Given the description of an element on the screen output the (x, y) to click on. 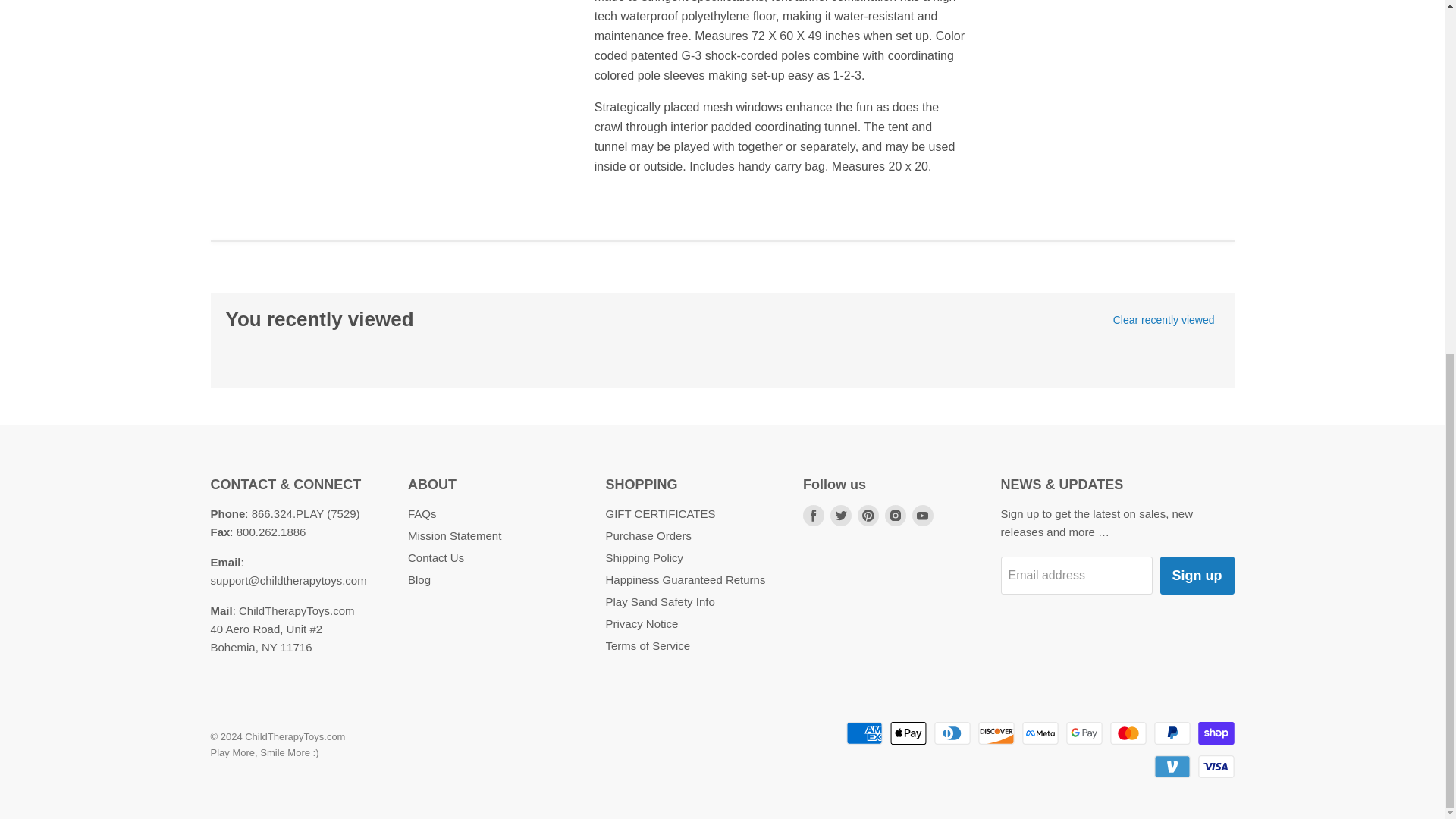
Facebook (813, 515)
Youtube (922, 515)
Twitter (840, 515)
Pinterest (868, 515)
Instagram (895, 515)
